Given the description of an element on the screen output the (x, y) to click on. 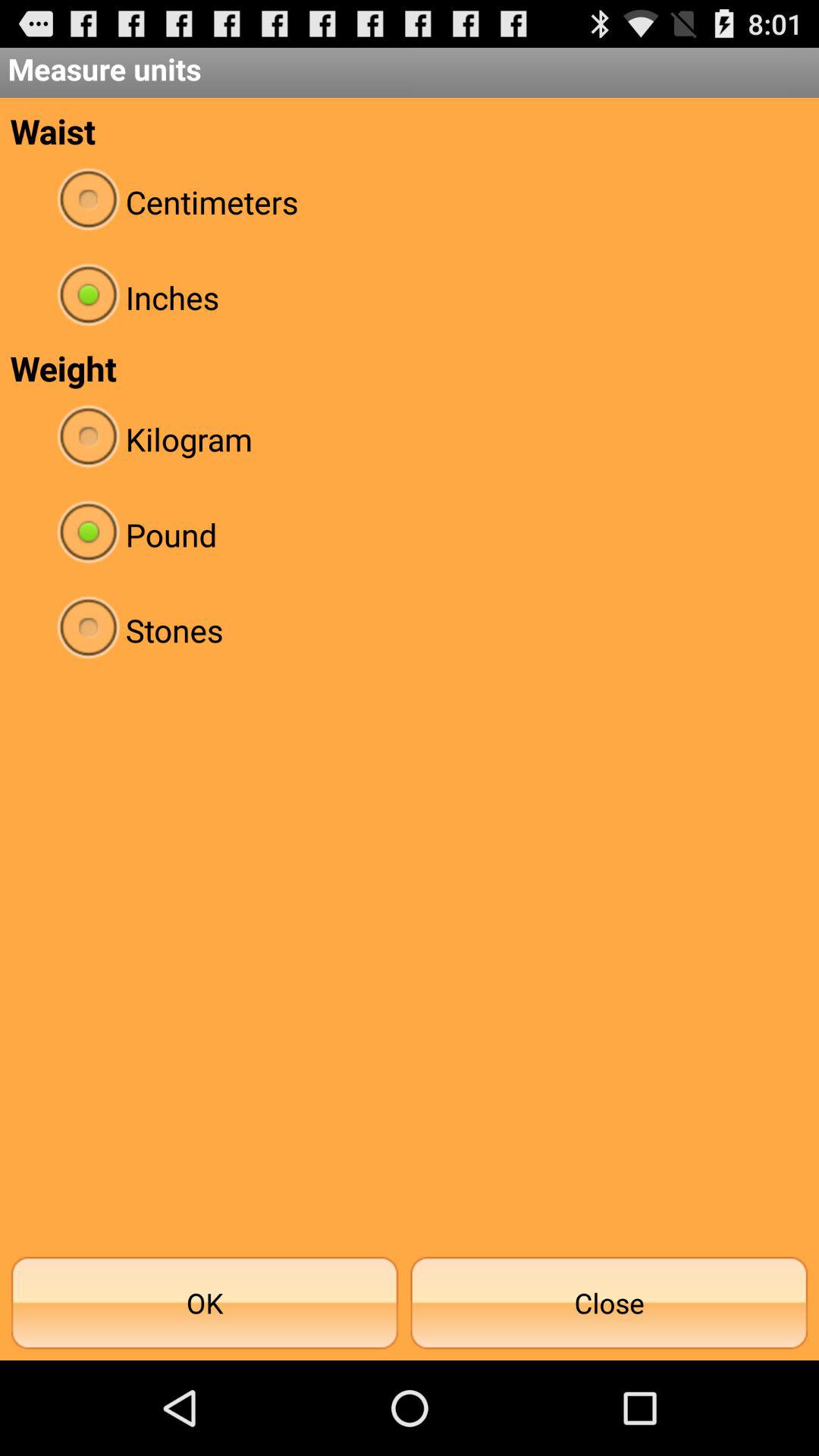
select inches (409, 297)
